Given the description of an element on the screen output the (x, y) to click on. 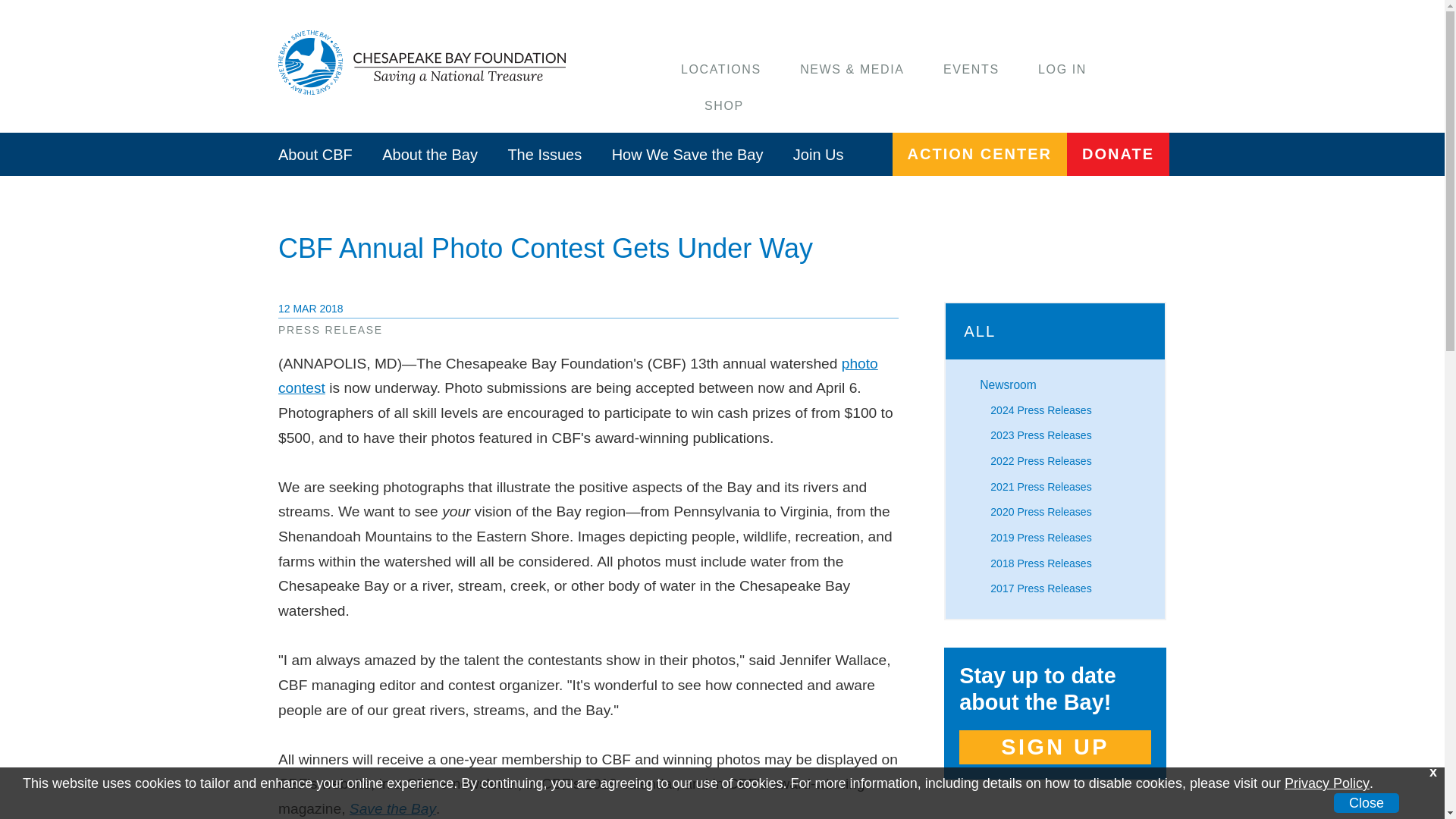
Locations (721, 69)
Log In (1062, 69)
About CBF (315, 154)
LOG IN (1062, 69)
Shop (724, 105)
SHOP (724, 105)
About the Bay (429, 154)
LOCATIONS (721, 69)
About CBF (315, 154)
Events (970, 69)
Chesapeake Bay Foundation (426, 62)
The Issues (543, 154)
EVENTS (970, 69)
About the Bay (429, 154)
